Given the description of an element on the screen output the (x, y) to click on. 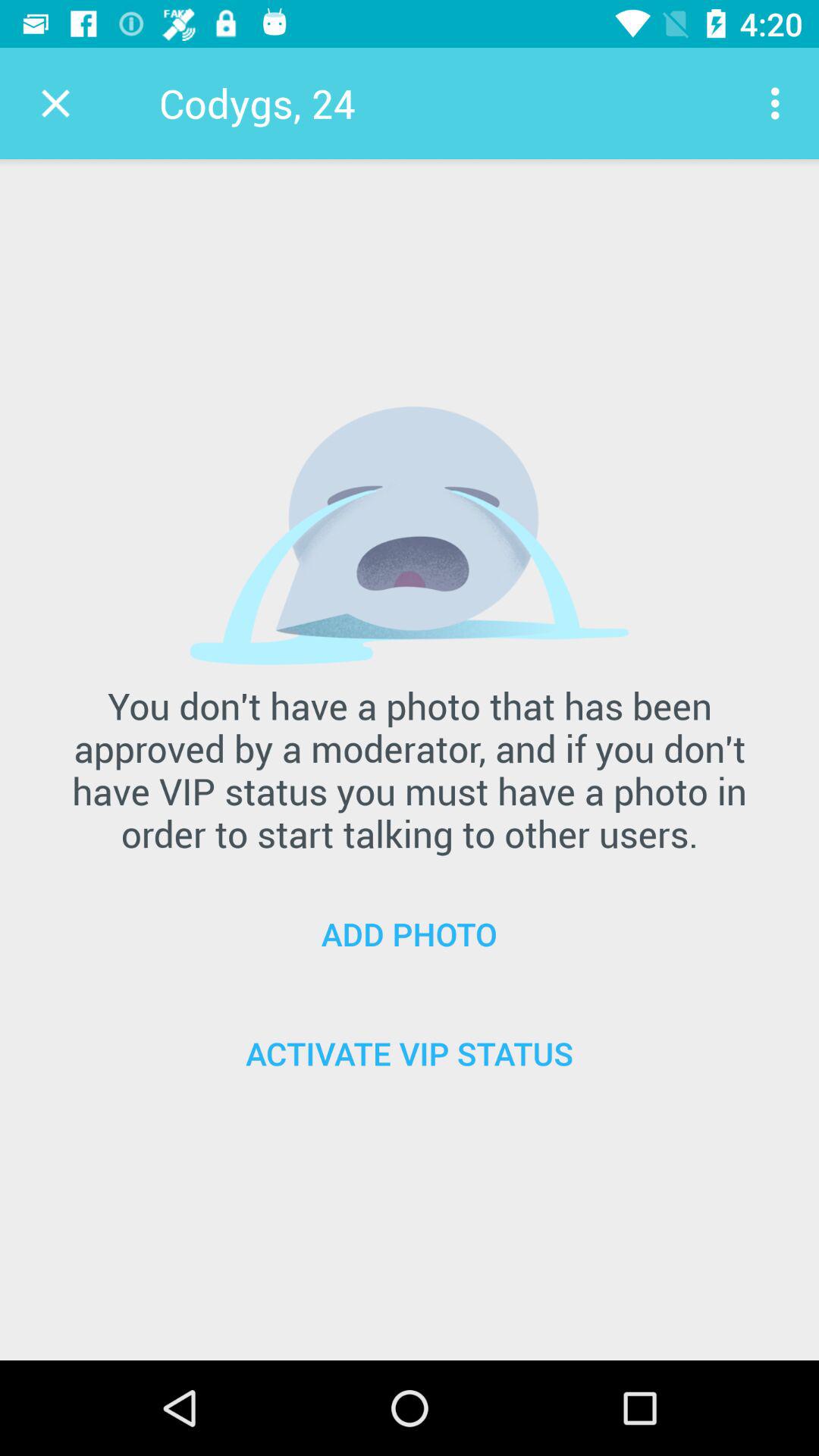
turn off item above activate vip status icon (409, 933)
